Given the description of an element on the screen output the (x, y) to click on. 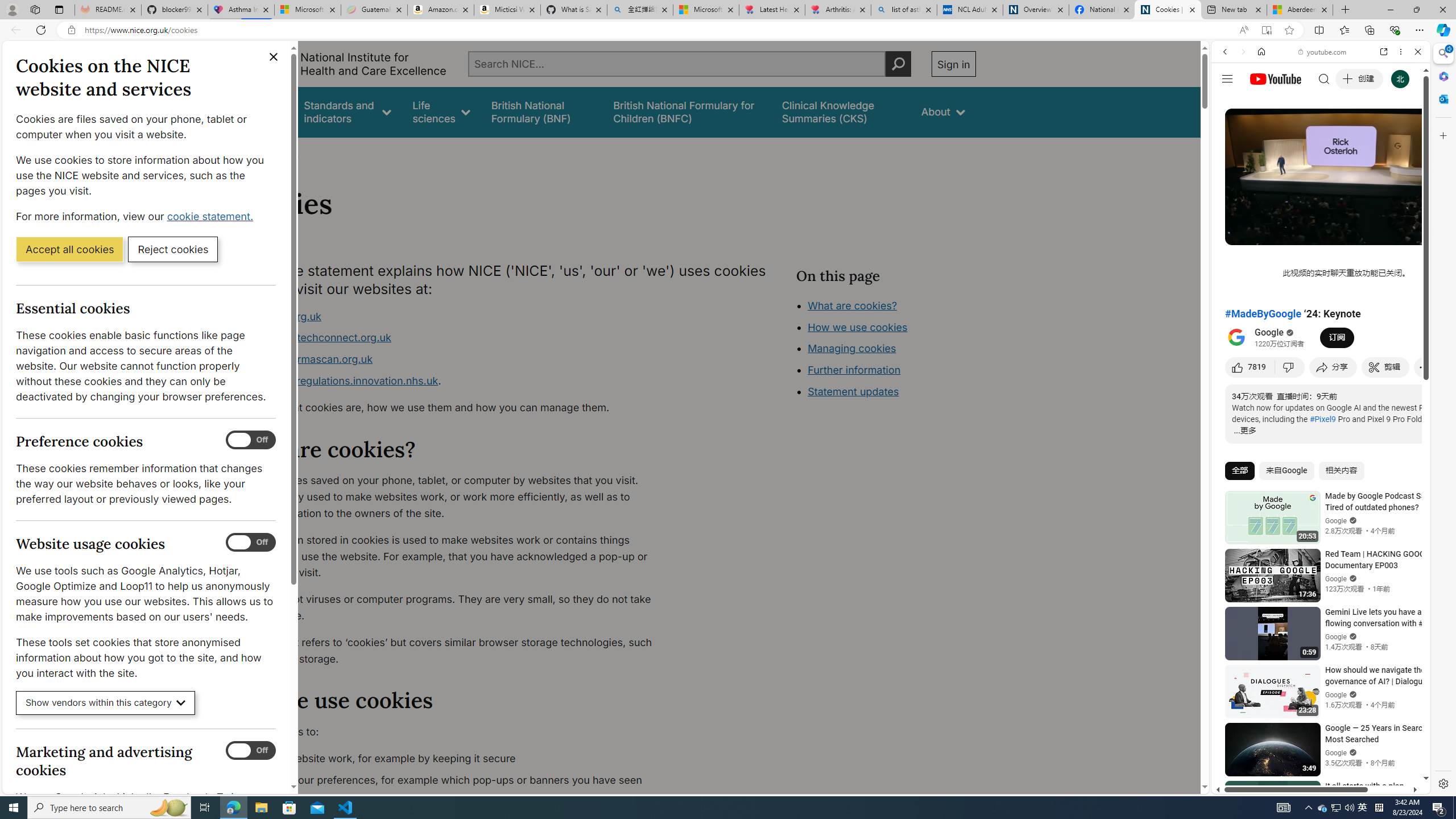
Search videos from youtube.com (1299, 373)
Perform search (898, 63)
Sign in (952, 63)
Website usage cookies (250, 542)
Search the web (1326, 78)
Arthritis: Ask Health Professionals (838, 9)
